Given the description of an element on the screen output the (x, y) to click on. 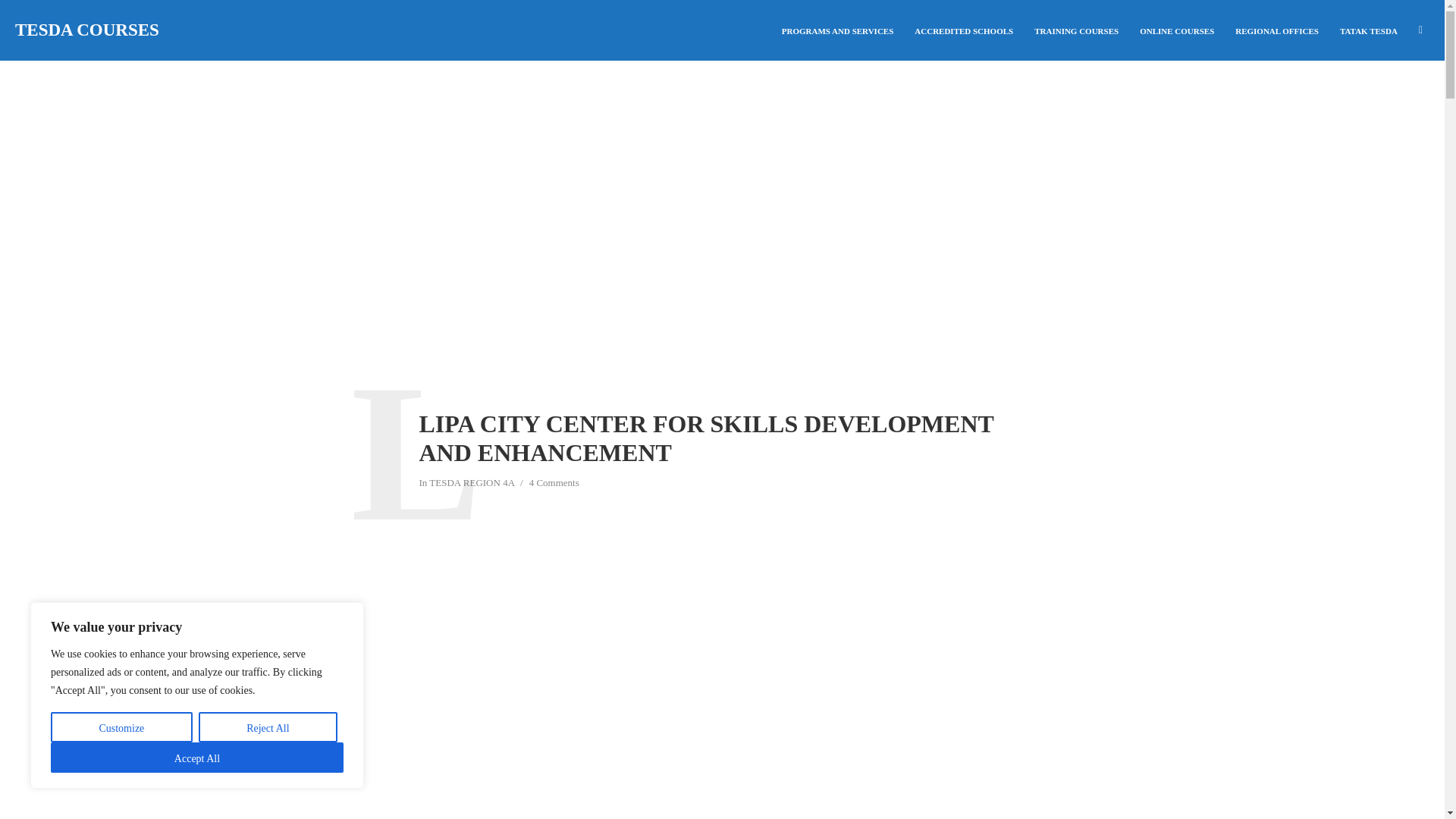
ONLINE COURSES (1176, 30)
REGIONAL OFFICES (1276, 30)
Accept All (196, 757)
Customize (121, 726)
TRAINING COURSES (1076, 30)
PROGRAMS AND SERVICES (837, 30)
TESDA REGION 4A (472, 483)
Reject All (267, 726)
Advertisement (722, 622)
